Given the description of an element on the screen output the (x, y) to click on. 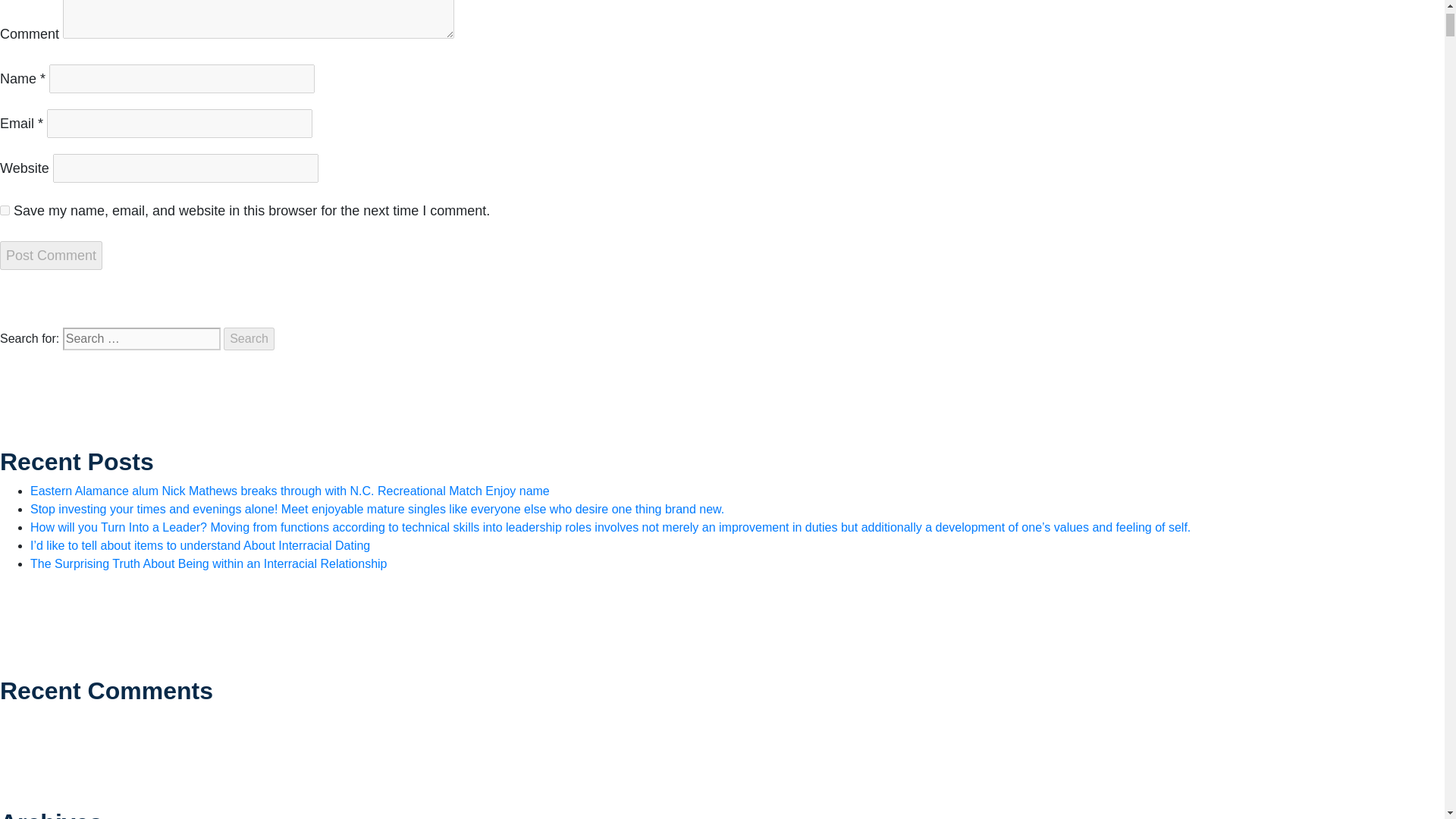
Search (249, 338)
Post Comment (50, 255)
Post Comment (50, 255)
Search (249, 338)
Search (249, 338)
yes (5, 210)
